Given the description of an element on the screen output the (x, y) to click on. 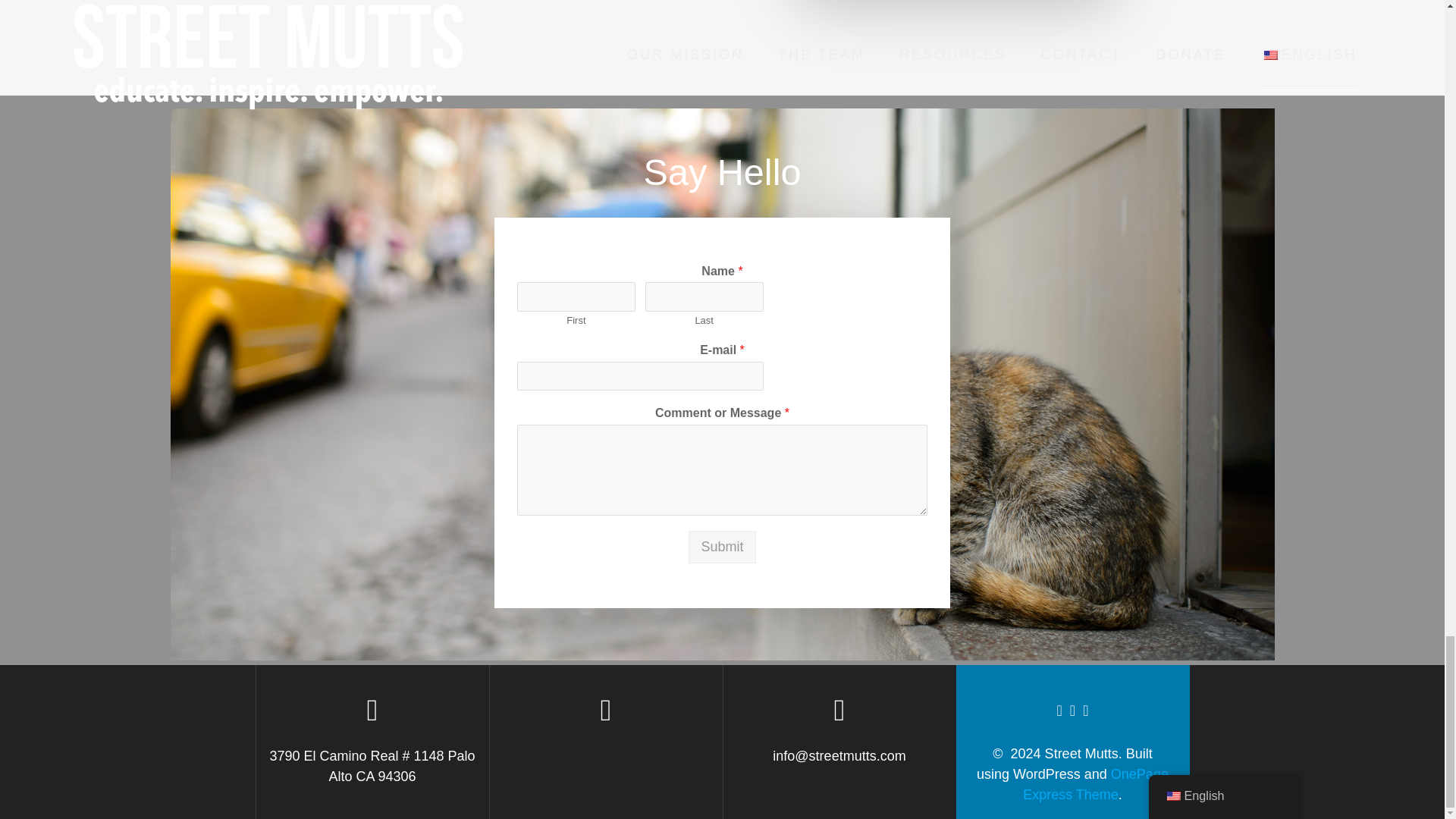
Submit (721, 546)
OnePage Express Theme (1096, 784)
